Given the description of an element on the screen output the (x, y) to click on. 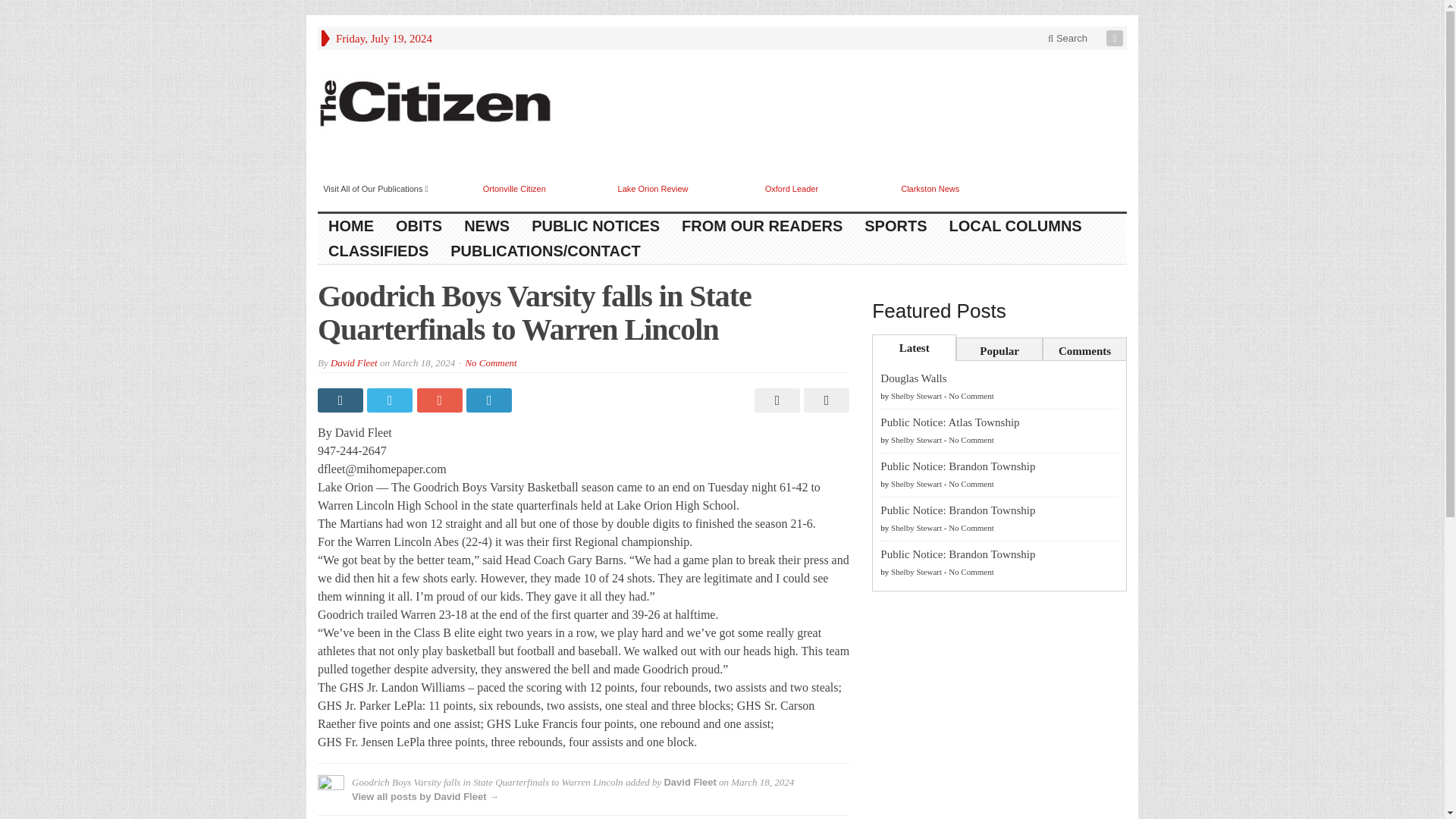
FROM OUR READERS (762, 226)
LOCAL COLUMNS (1016, 226)
CLASSIFIEDS (378, 251)
Oxford Leader (791, 188)
No Comment (490, 362)
NEWS (486, 226)
Serving Ortonville Michigan (435, 103)
OBITS (418, 226)
Posts by Shelby Stewart (916, 439)
HOME (351, 226)
Permalink to Douglas Walls (913, 378)
Ortonville Citizen (514, 188)
Permalink to Public Notice: Atlas Township (949, 422)
David Fleet (689, 781)
Search (1067, 37)
